Given the description of an element on the screen output the (x, y) to click on. 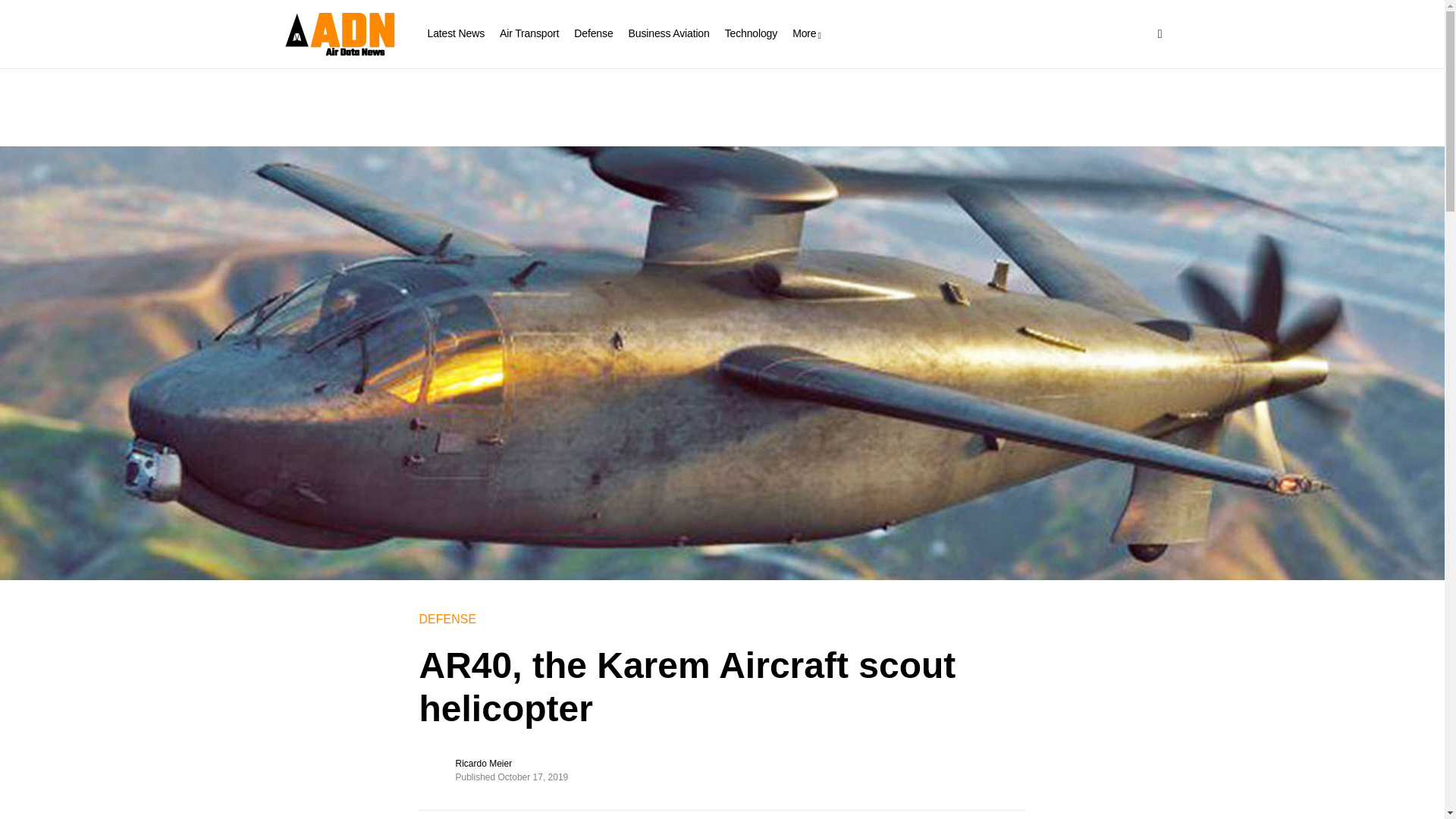
DEFENSE (447, 618)
Ricardo Meier (483, 763)
Business Aviation (669, 33)
